Given the description of an element on the screen output the (x, y) to click on. 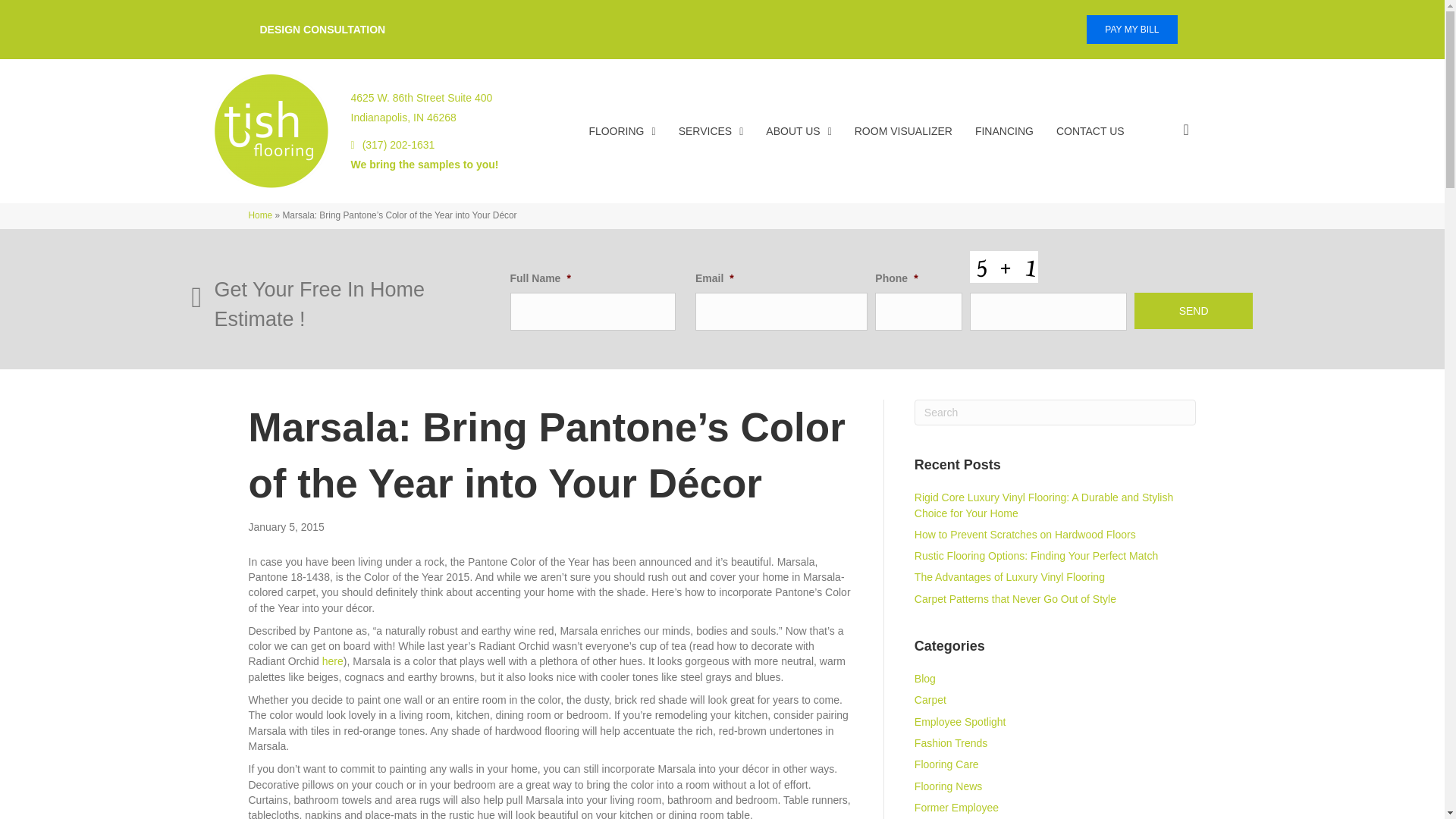
We bring the samples to you! (421, 111)
Type and press Enter to search. (423, 164)
PAY MY BILL (1055, 412)
FLOORING (1131, 29)
DESIGN CONSULTATION (621, 130)
SEND (322, 29)
